Given the description of an element on the screen output the (x, y) to click on. 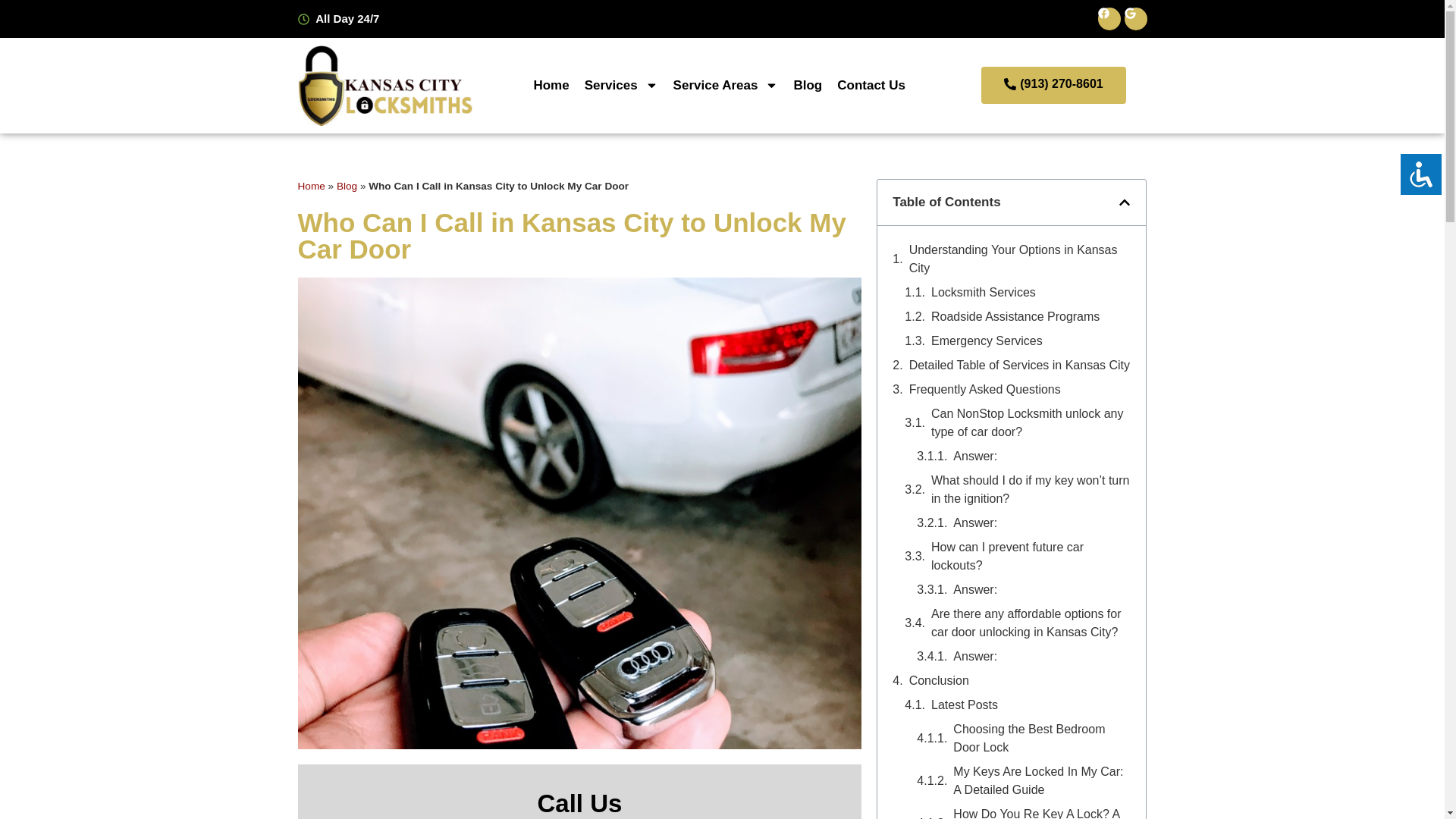
Services (620, 85)
Home (550, 85)
Contact Us (870, 85)
Service Areas (725, 85)
Blog (807, 85)
